Given the description of an element on the screen output the (x, y) to click on. 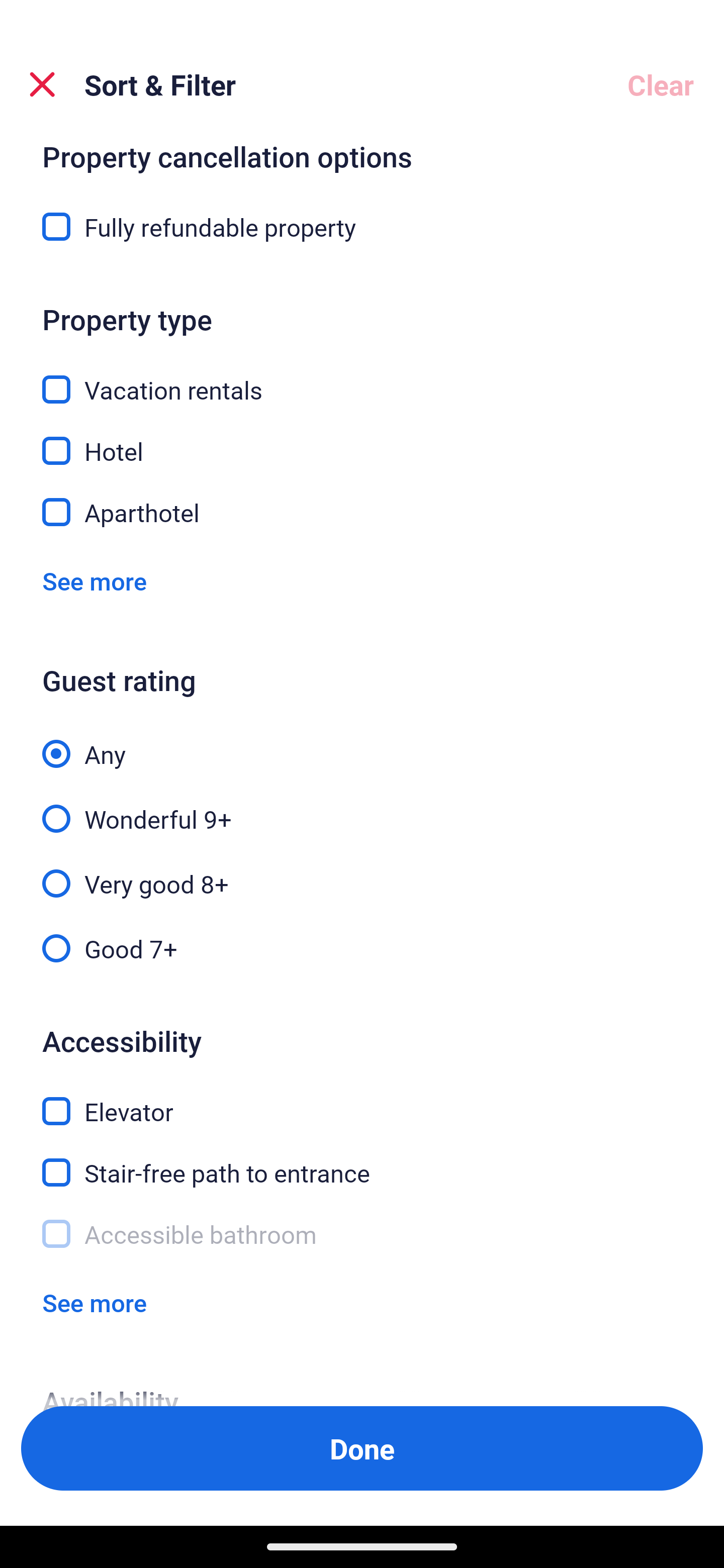
Close Sort and Filter (42, 84)
Clear (660, 84)
Vacation rentals, Vacation rentals (361, 378)
Hotel, Hotel (361, 439)
Aparthotel, Aparthotel (361, 512)
See more See more property types Link (93, 580)
Wonderful 9+ (361, 808)
Very good 8+ (361, 872)
Good 7+ (361, 946)
Elevator, Elevator (361, 1099)
Accessible bathroom, Accessible bathroom (361, 1233)
See more See more accessibility options Link (93, 1302)
Apply and close Sort and Filter Done (361, 1448)
